Given the description of an element on the screen output the (x, y) to click on. 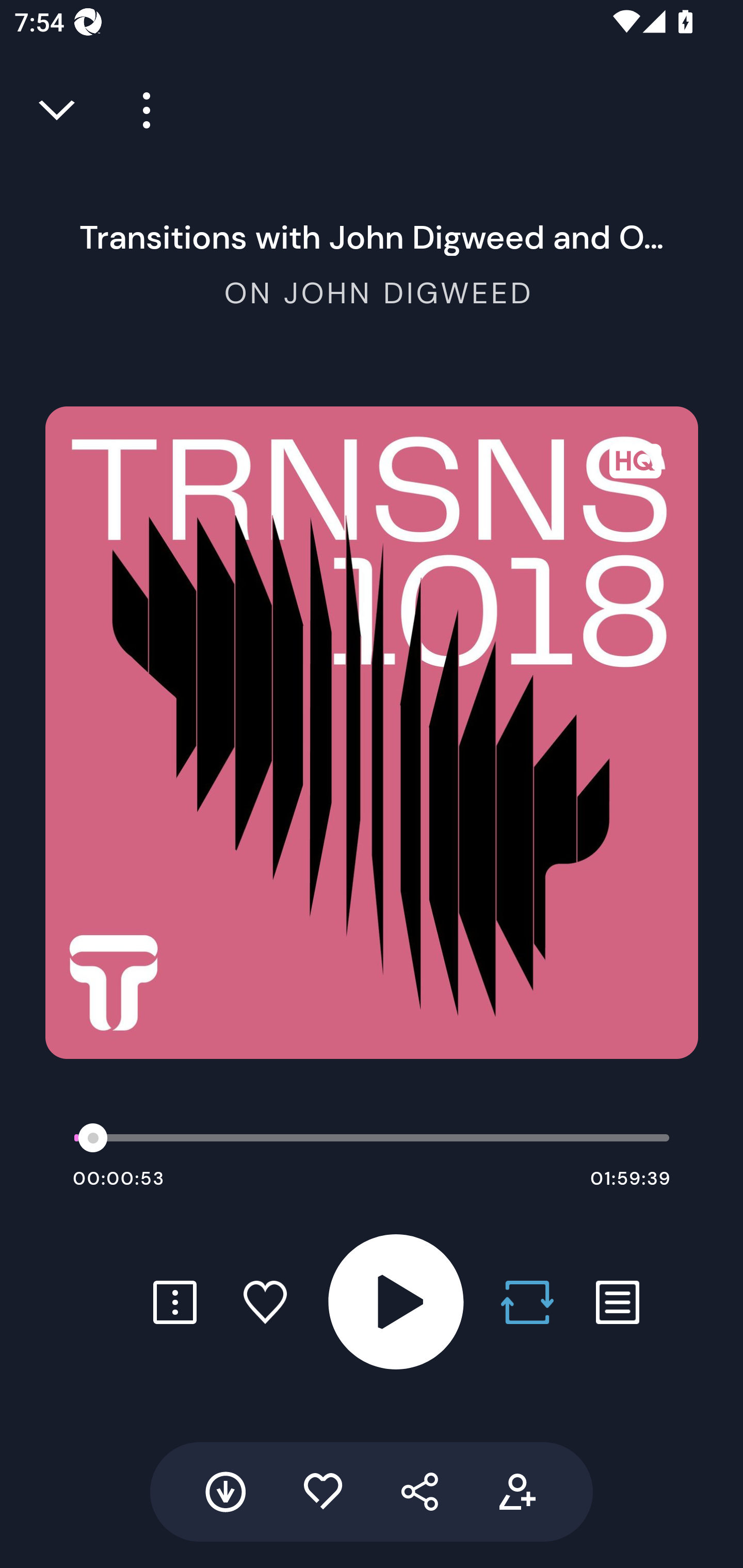
Close full player (58, 110)
Player more options button (139, 110)
Repost button (527, 1301)
